Given the description of an element on the screen output the (x, y) to click on. 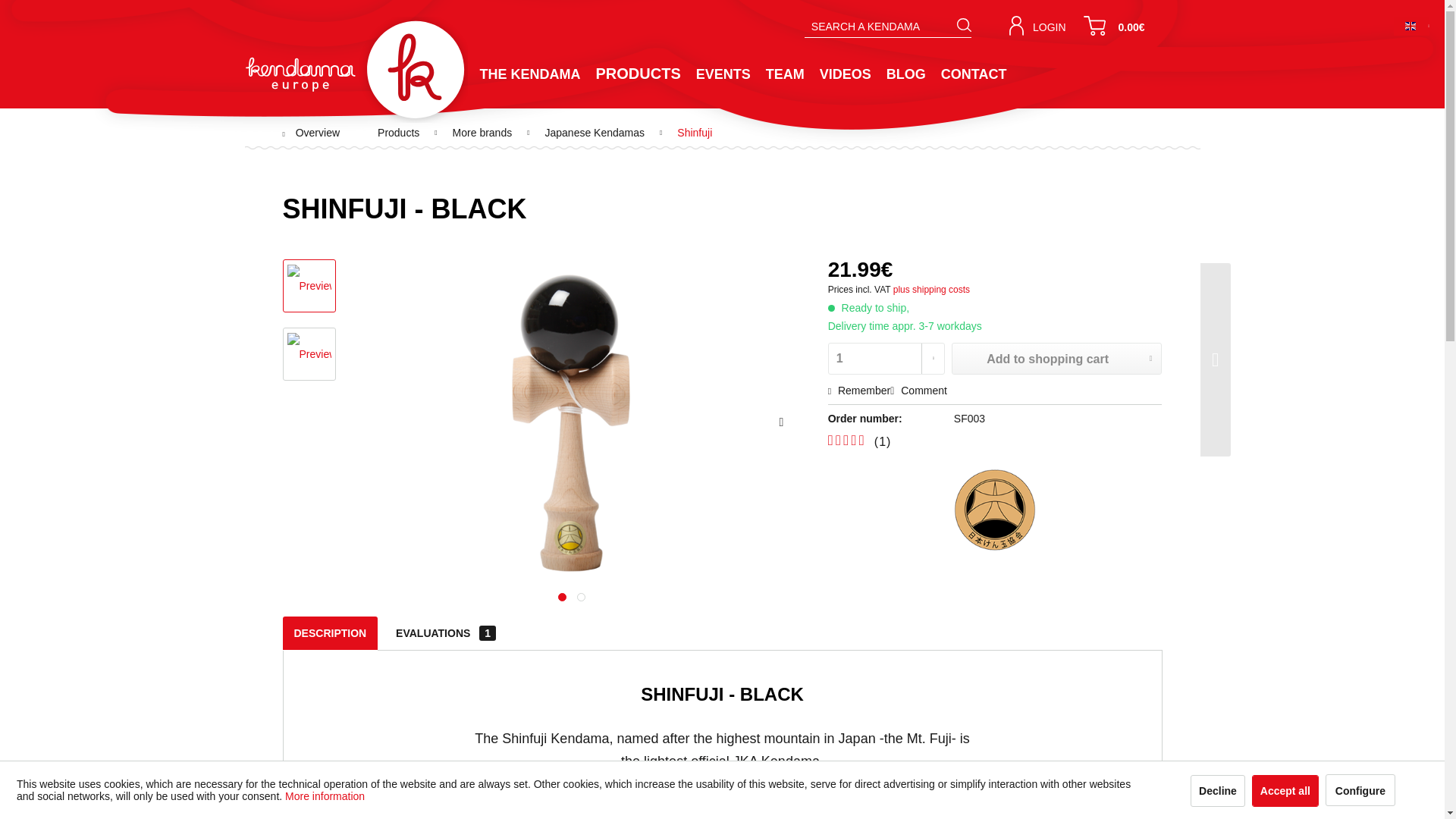
THE KENDAMA (529, 82)
BLOG (906, 82)
Team (785, 82)
BLOG (906, 82)
Events (723, 82)
Videos (845, 82)
Products (638, 81)
CONTACT (973, 82)
EVENTS (723, 82)
Contact (973, 82)
